Given the description of an element on the screen output the (x, y) to click on. 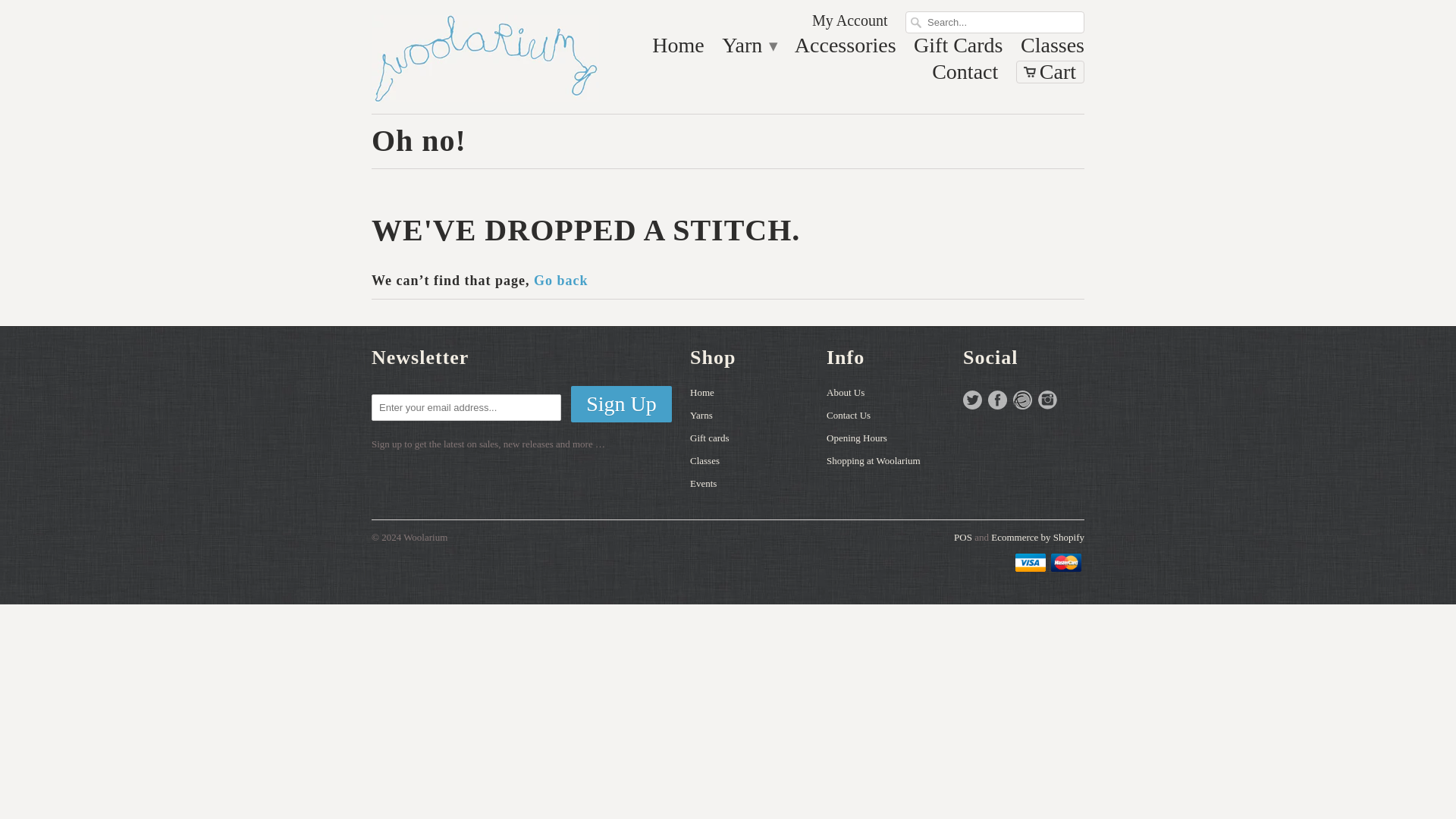
Accessories (845, 48)
My Account  (849, 24)
Yarns (701, 414)
Contact (964, 75)
Woolarium (484, 56)
My Account (849, 24)
Gift Cards (958, 48)
Classes (1052, 48)
Home (702, 392)
Home (677, 48)
Classes (1052, 48)
Cart (1050, 71)
Gift cards (709, 437)
Shopping Cart (1050, 71)
Yarn (749, 49)
